Given the description of an element on the screen output the (x, y) to click on. 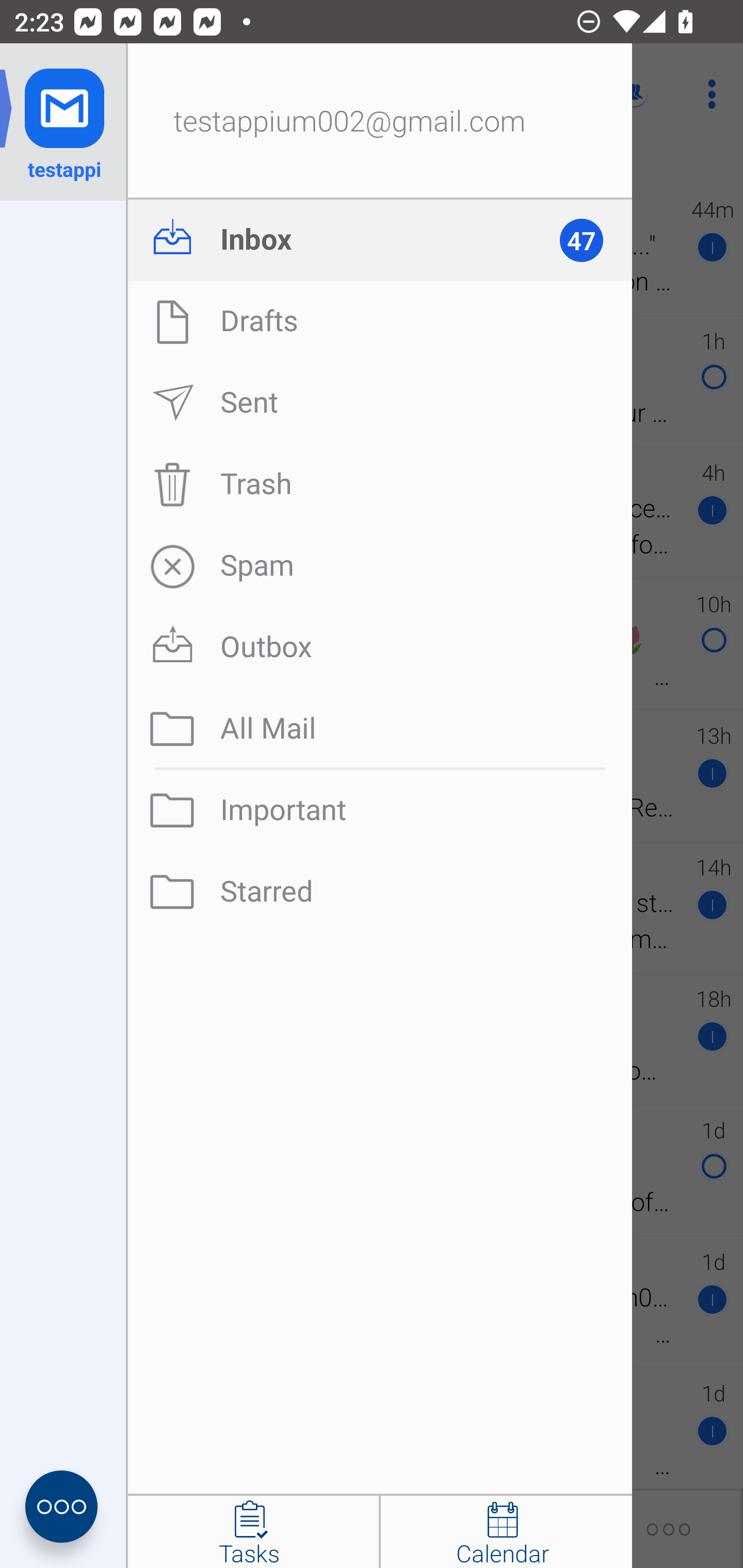
Navigate up (81, 93)
testappium002@gmail.com (379, 121)
Inbox 47 (379, 239)
47 (590, 239)
Drafts (379, 321)
Sent (379, 402)
Trash (379, 484)
Spam (379, 565)
Outbox (379, 647)
All Mail (379, 728)
Important (379, 810)
Starred (379, 891)
Tasks (252, 1531)
Calendar (506, 1531)
